Given the description of an element on the screen output the (x, y) to click on. 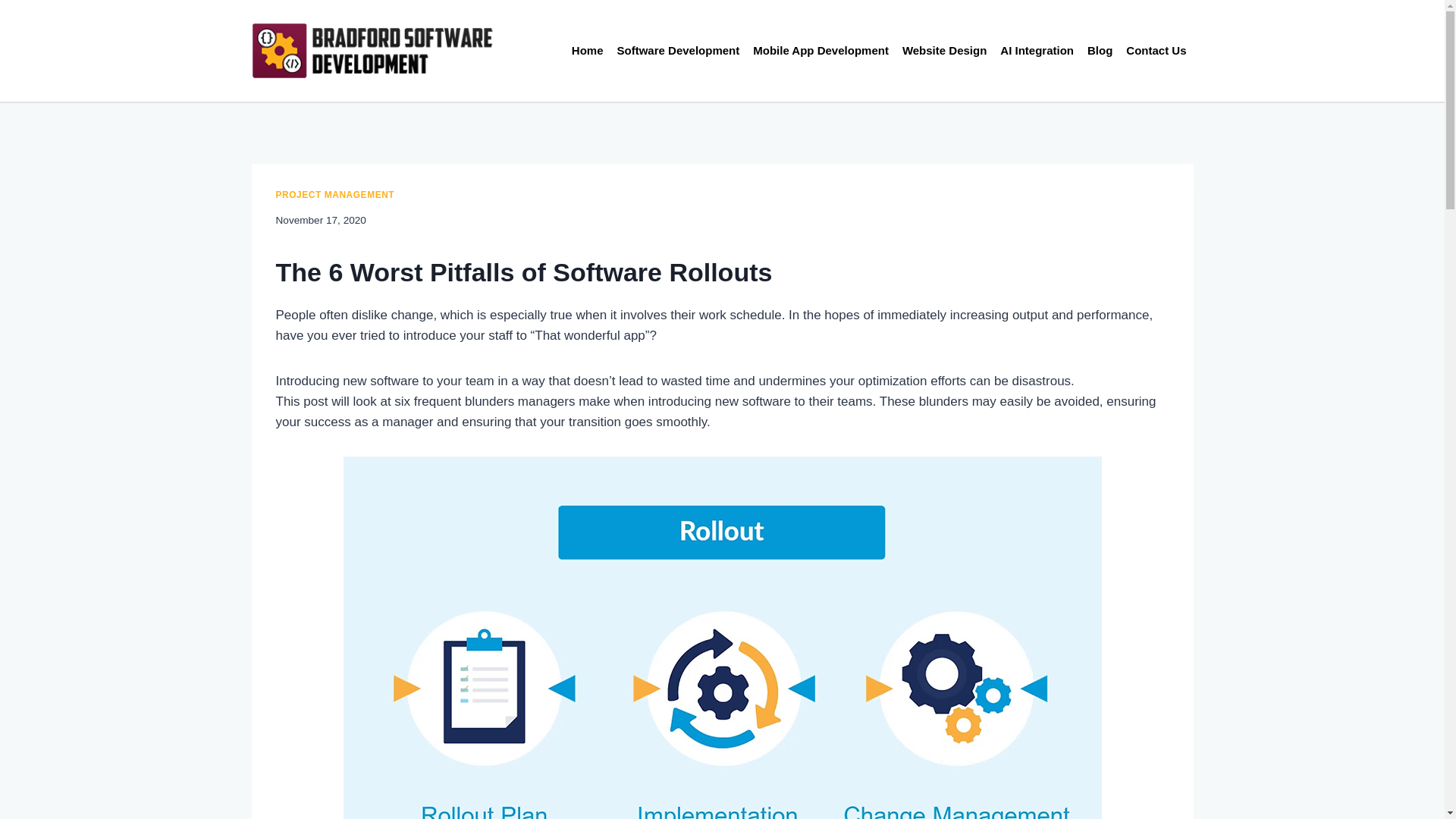
Website Design (943, 50)
Home (587, 50)
Mobile App Development (820, 50)
AI Integration (1036, 50)
Contact Us (1155, 50)
Blog (1099, 50)
PROJECT MANAGEMENT (335, 194)
Software Development (678, 50)
